Given the description of an element on the screen output the (x, y) to click on. 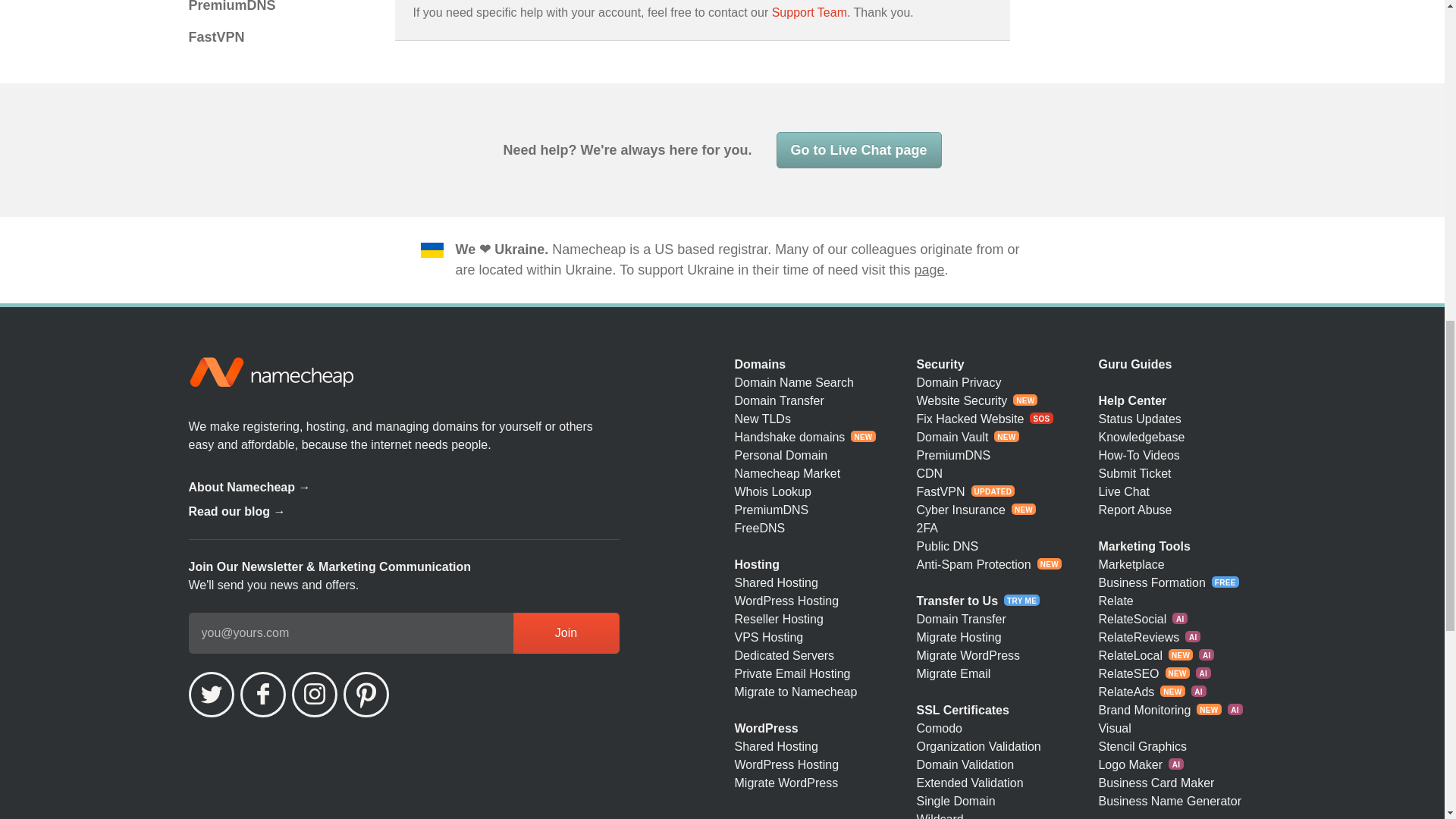
Facebook (262, 694)
Instagram (313, 694)
Twitter (209, 694)
Pinterest (365, 694)
